Given the description of an element on the screen output the (x, y) to click on. 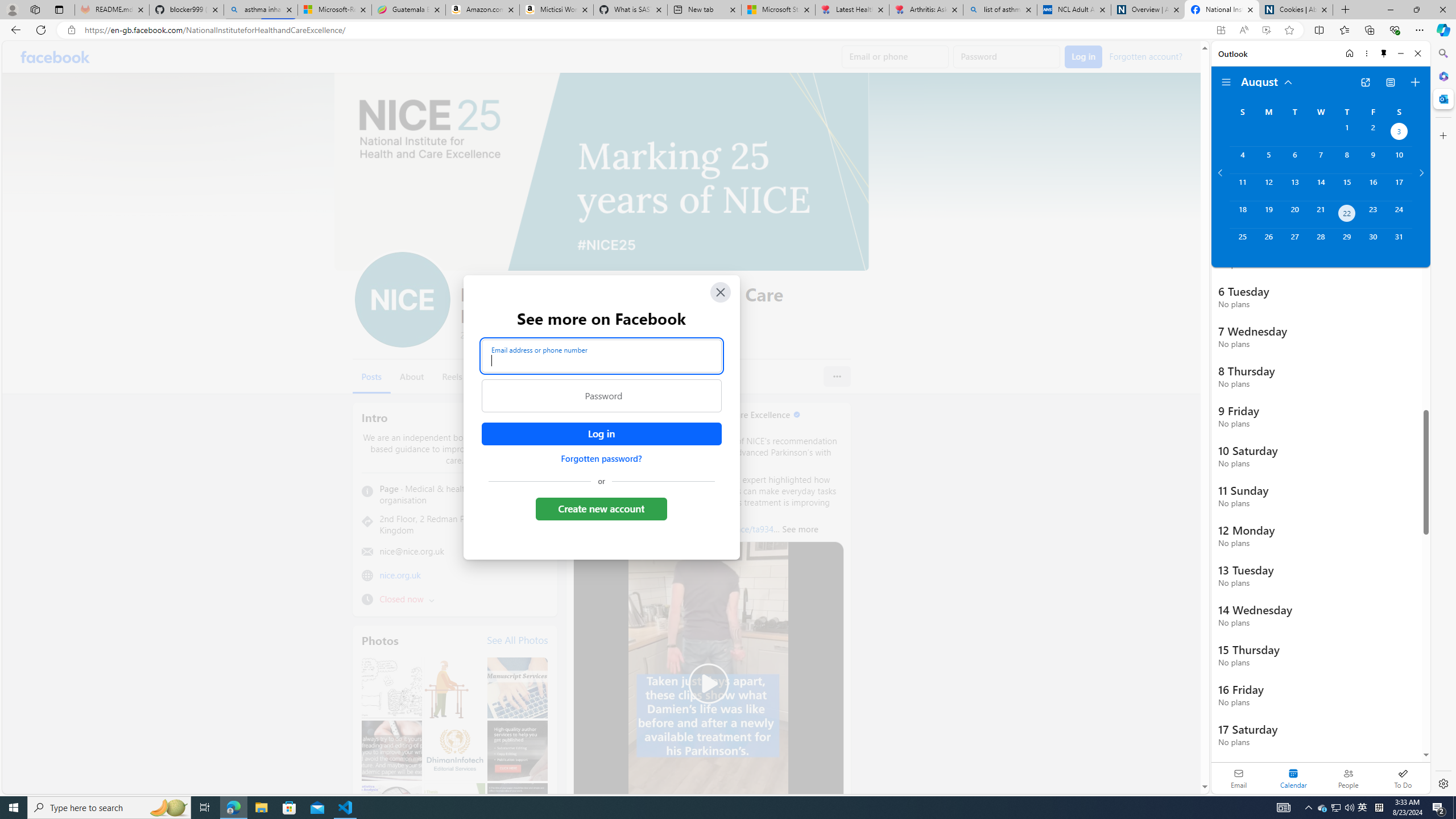
Sunday, August 11, 2024.  (1242, 186)
Thursday, August 8, 2024.  (1346, 159)
Folder navigation (1225, 82)
Selected calendar module. Date today is 22 (1293, 777)
Friday, August 16, 2024.  (1372, 186)
Tuesday, August 27, 2024.  (1294, 241)
Thursday, August 1, 2024.  (1346, 132)
Monday, August 12, 2024.  (1268, 186)
Open in new tab (1365, 82)
